Given the description of an element on the screen output the (x, y) to click on. 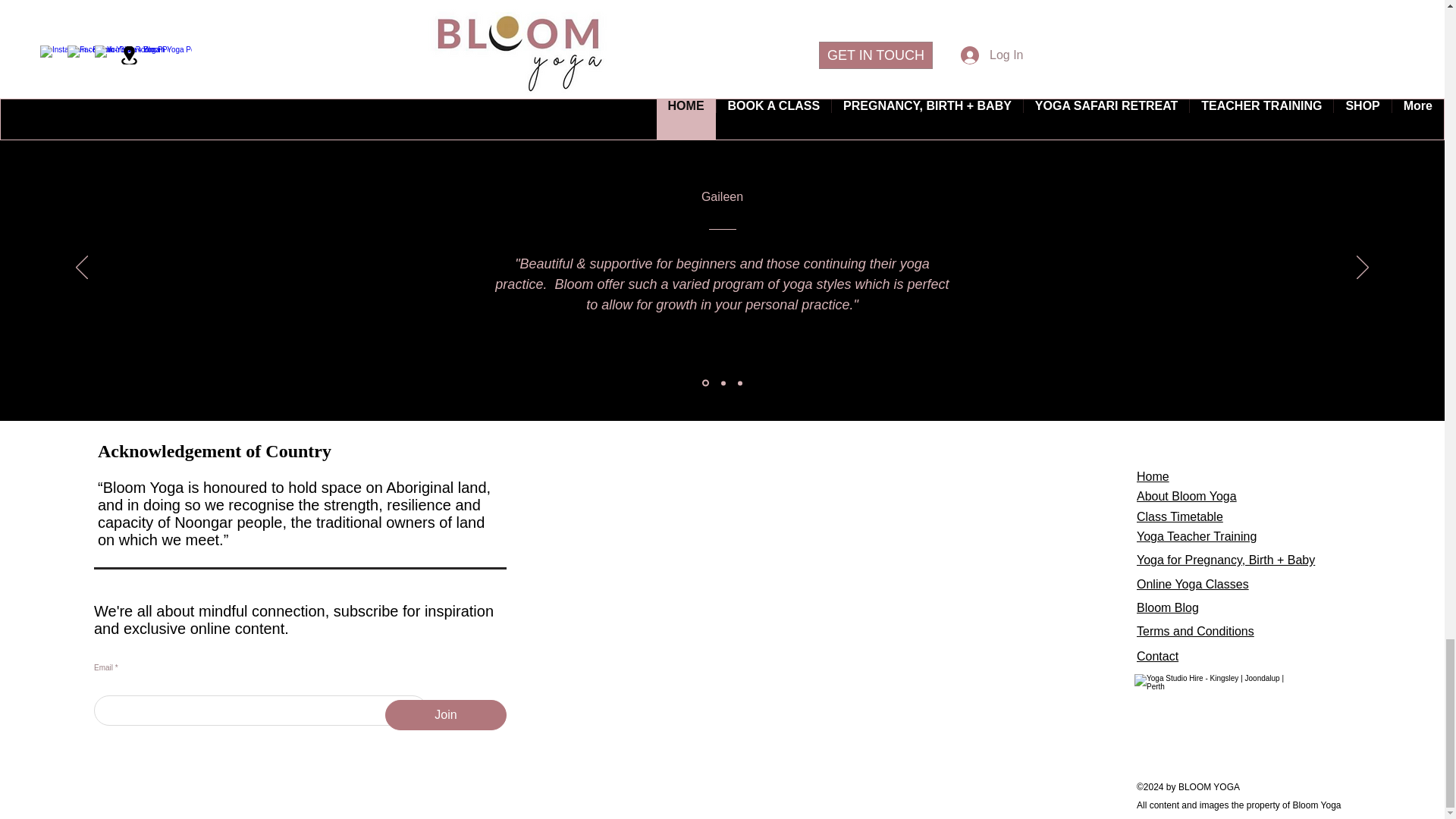
Bloom Logo Transparent.png (1215, 708)
